Given the description of an element on the screen output the (x, y) to click on. 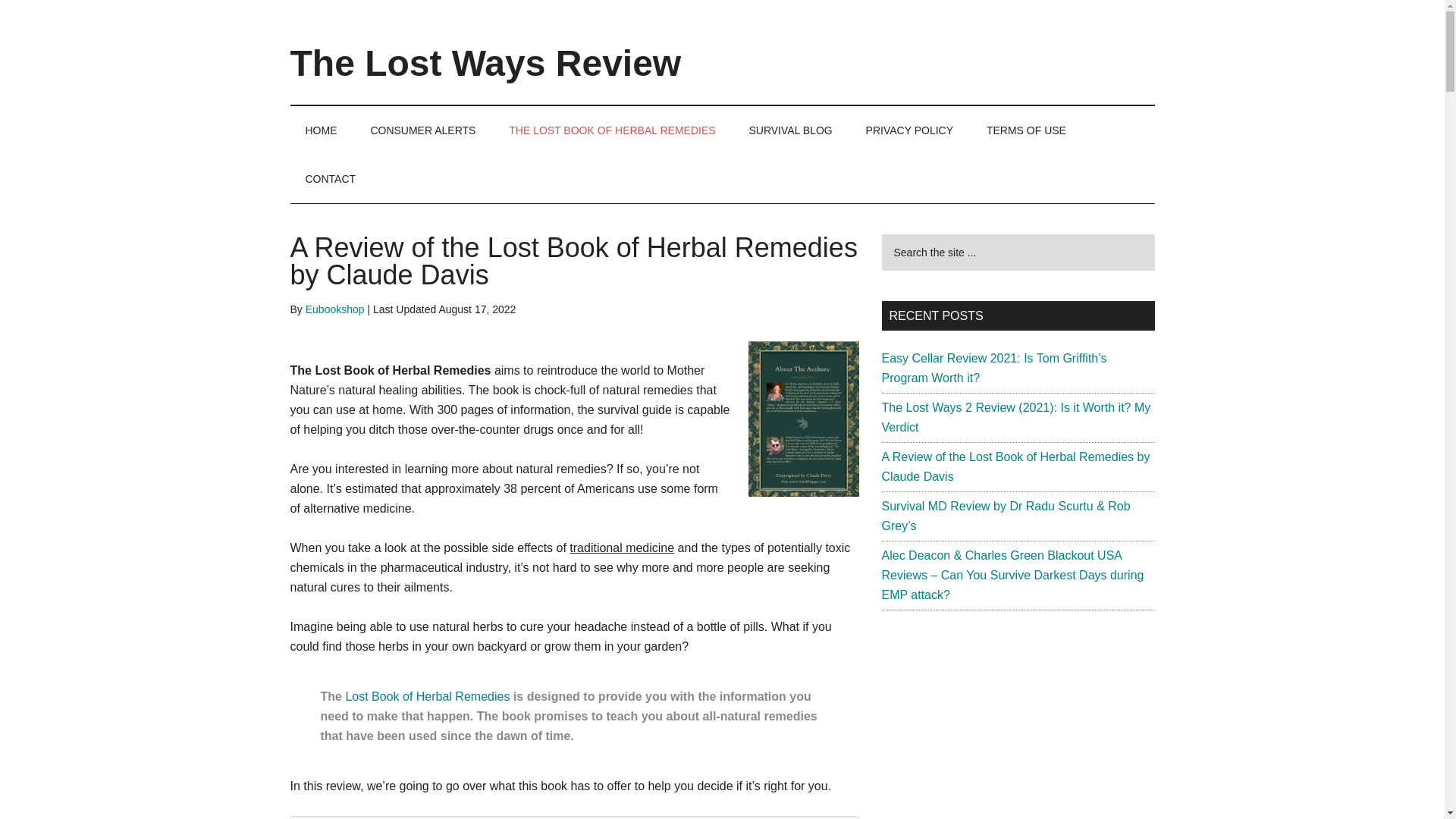
THE LOST BOOK OF HERBAL REMEDIES (611, 130)
CONSUMER ALERTS (422, 130)
Eubookshop (335, 309)
The Lost Ways Review (485, 63)
PRIVACY POLICY (909, 130)
Lost Book of Herbal Remedies (427, 696)
TERMS OF USE (1026, 130)
HOME (320, 130)
SURVIVAL BLOG (790, 130)
CONTACT (330, 178)
